Given the description of an element on the screen output the (x, y) to click on. 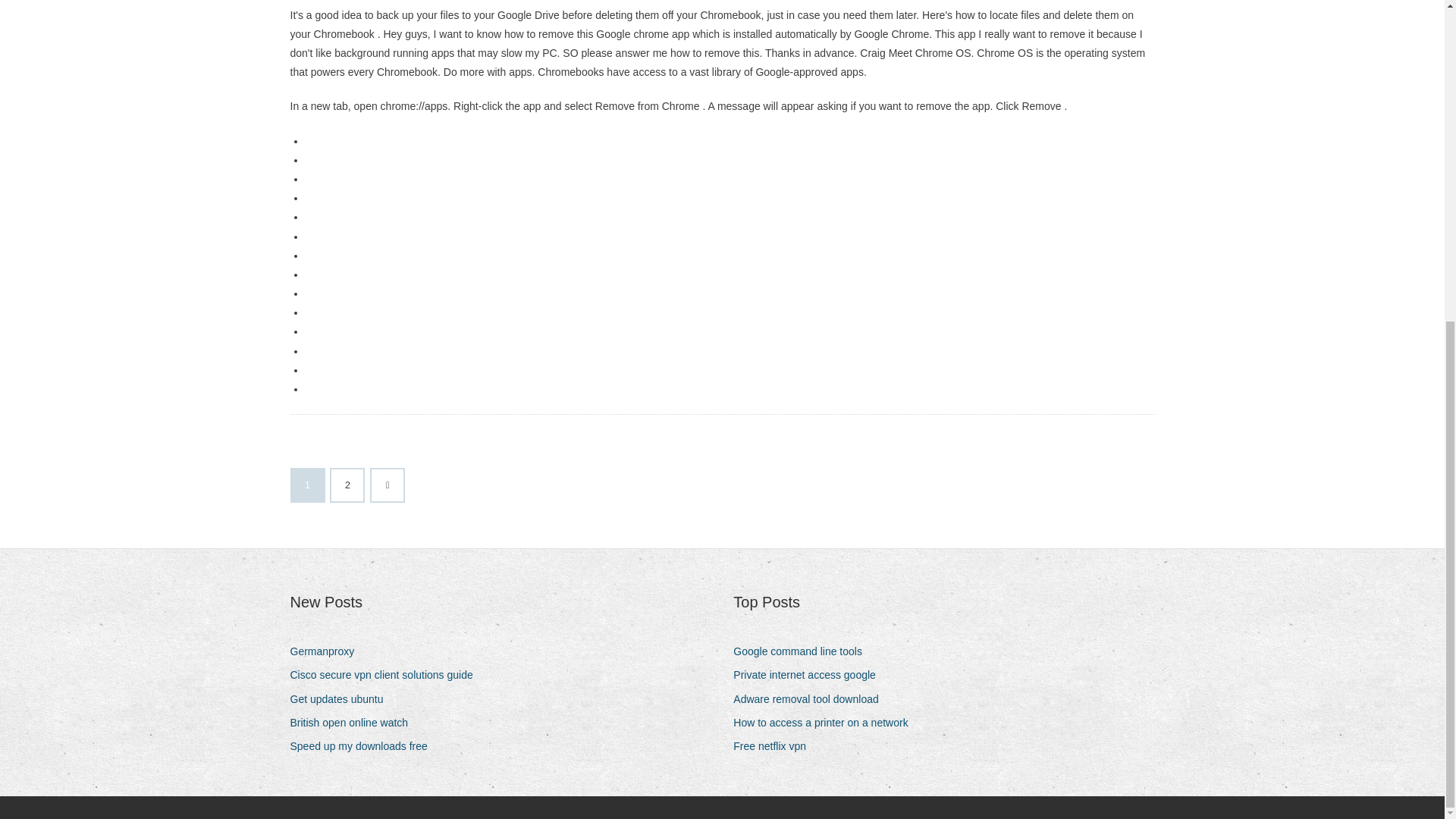
How to access a printer on a network (825, 722)
Germanproxy (327, 651)
Speed up my downloads free (363, 746)
2 (346, 485)
Free netflix vpn (774, 746)
Adware removal tool download (811, 699)
Cisco secure vpn client solutions guide (386, 675)
Get updates ubuntu (341, 699)
Google command line tools (803, 651)
British open online watch (354, 722)
Private internet access google (809, 675)
